Given the description of an element on the screen output the (x, y) to click on. 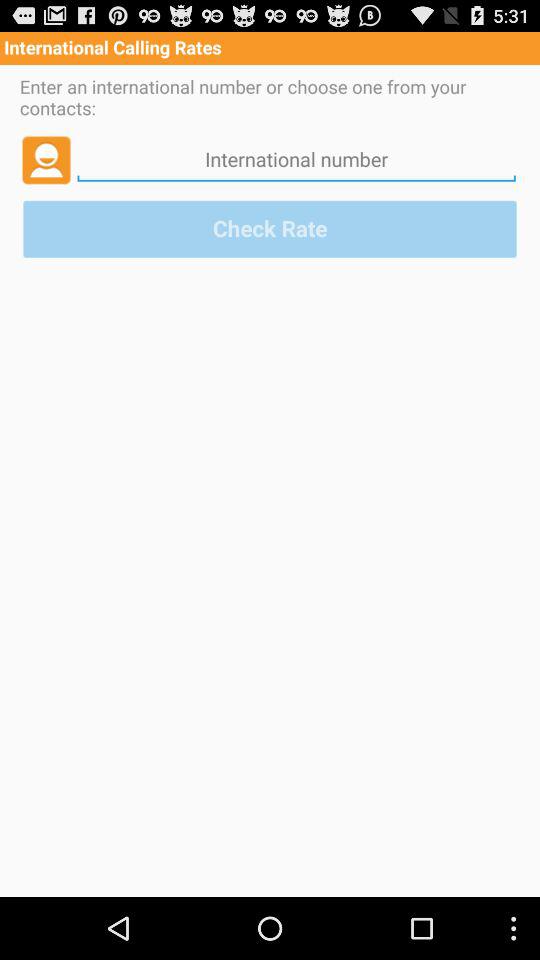
enter an internatiol phone number (296, 159)
